Given the description of an element on the screen output the (x, y) to click on. 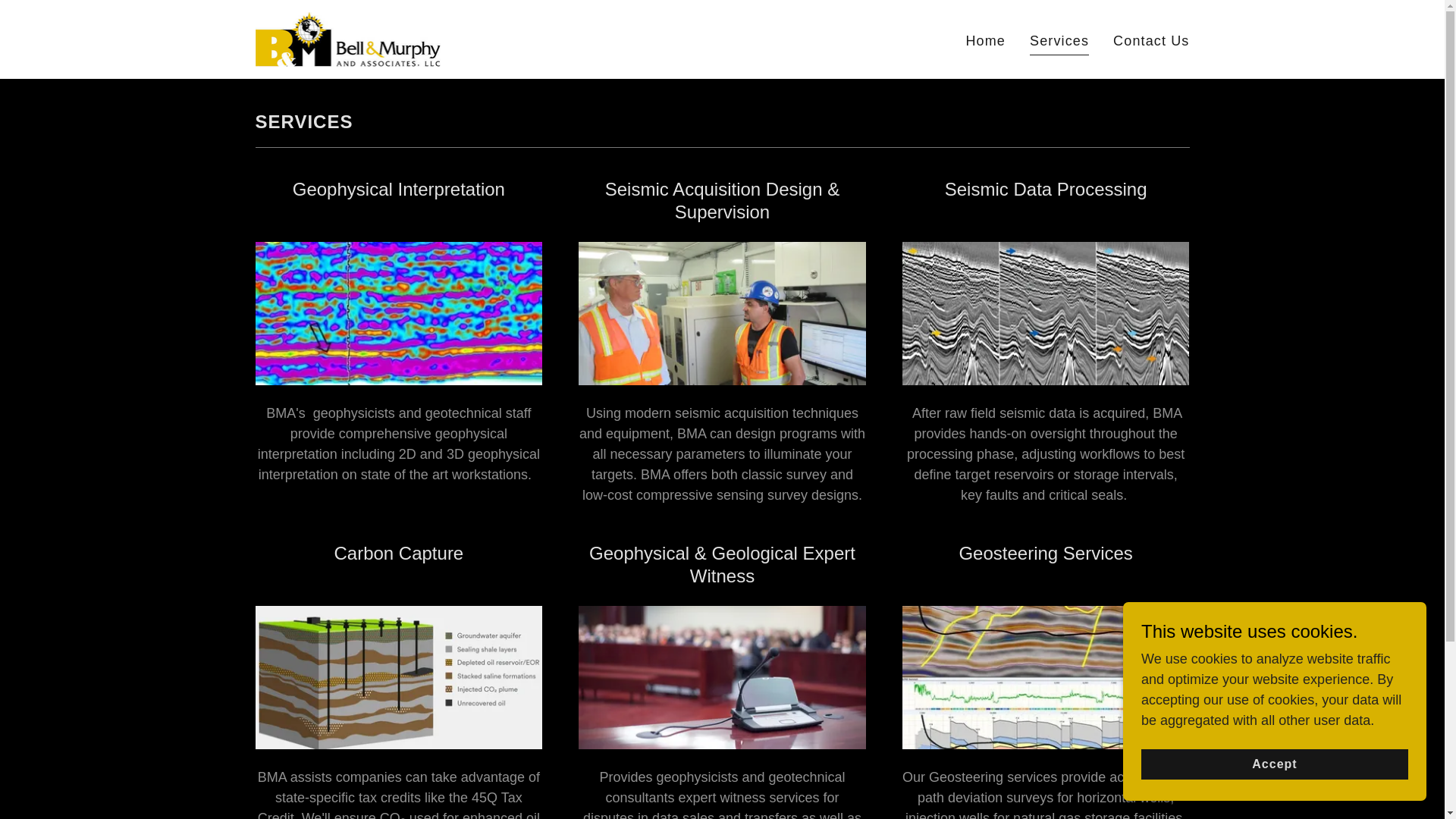
Home (985, 41)
Contact Us (1150, 41)
Services (1059, 43)
Accept (1274, 764)
